Given the description of an element on the screen output the (x, y) to click on. 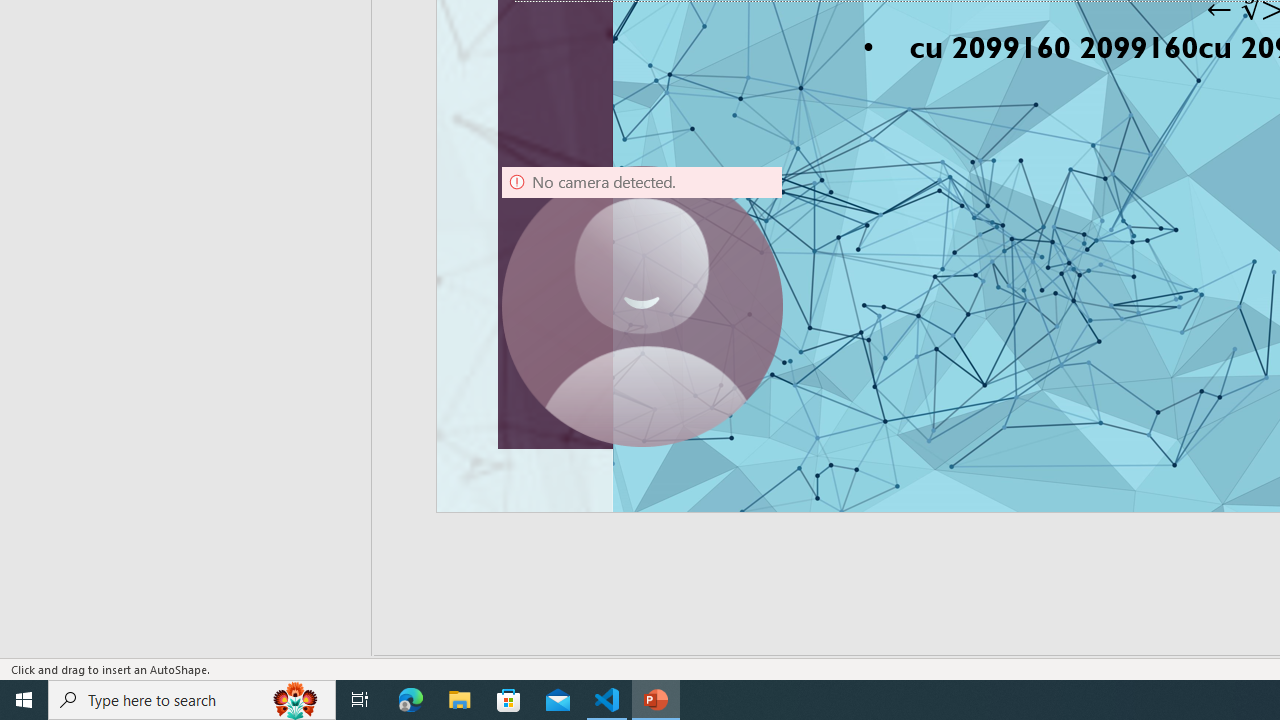
Camera 9, No camera detected. (641, 306)
